Given the description of an element on the screen output the (x, y) to click on. 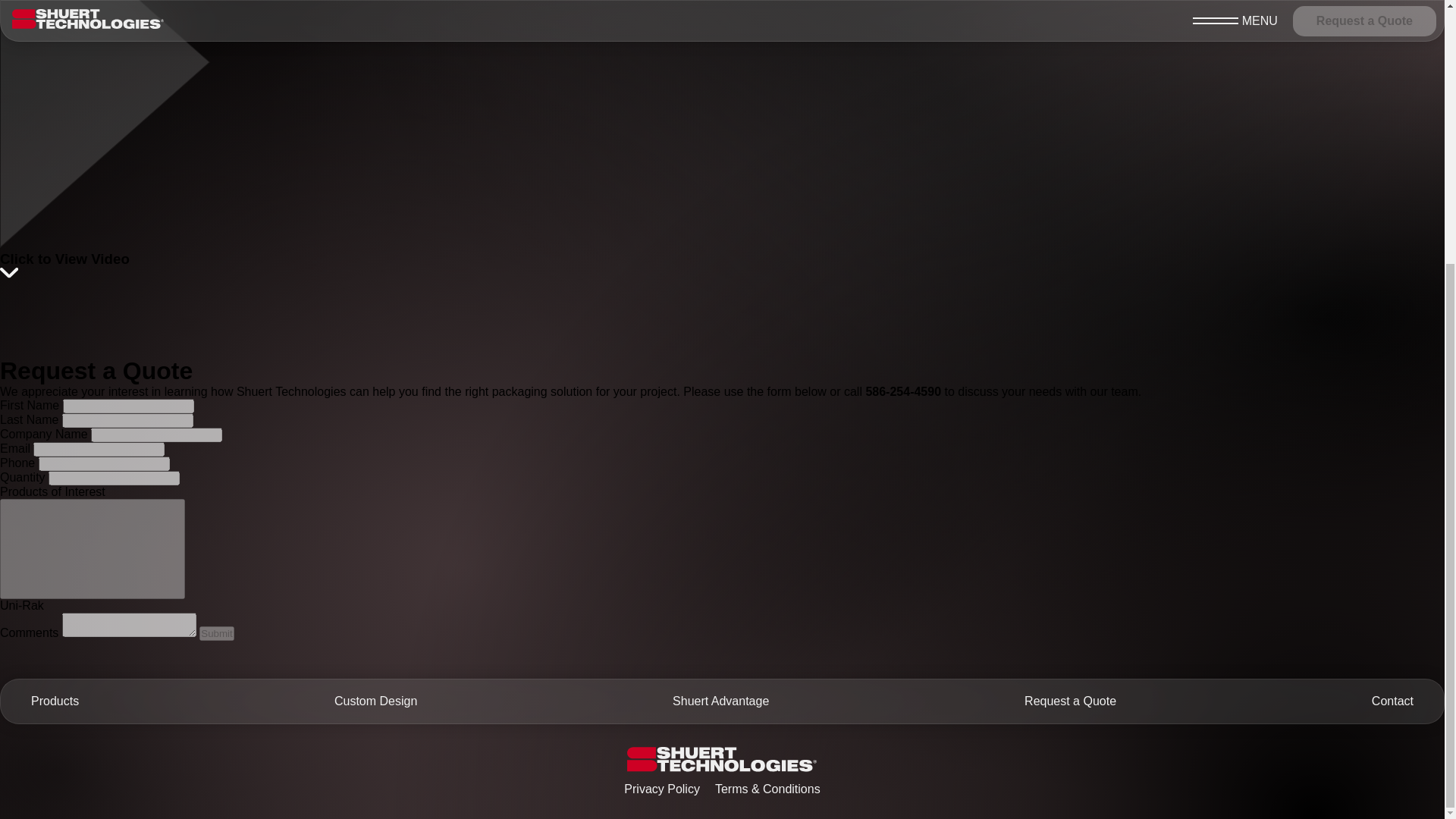
Shuert Advantage (720, 701)
Request a Quote (1070, 701)
Submit (215, 633)
Products (54, 701)
Contact (1392, 701)
Custom Design (375, 701)
